Given the description of an element on the screen output the (x, y) to click on. 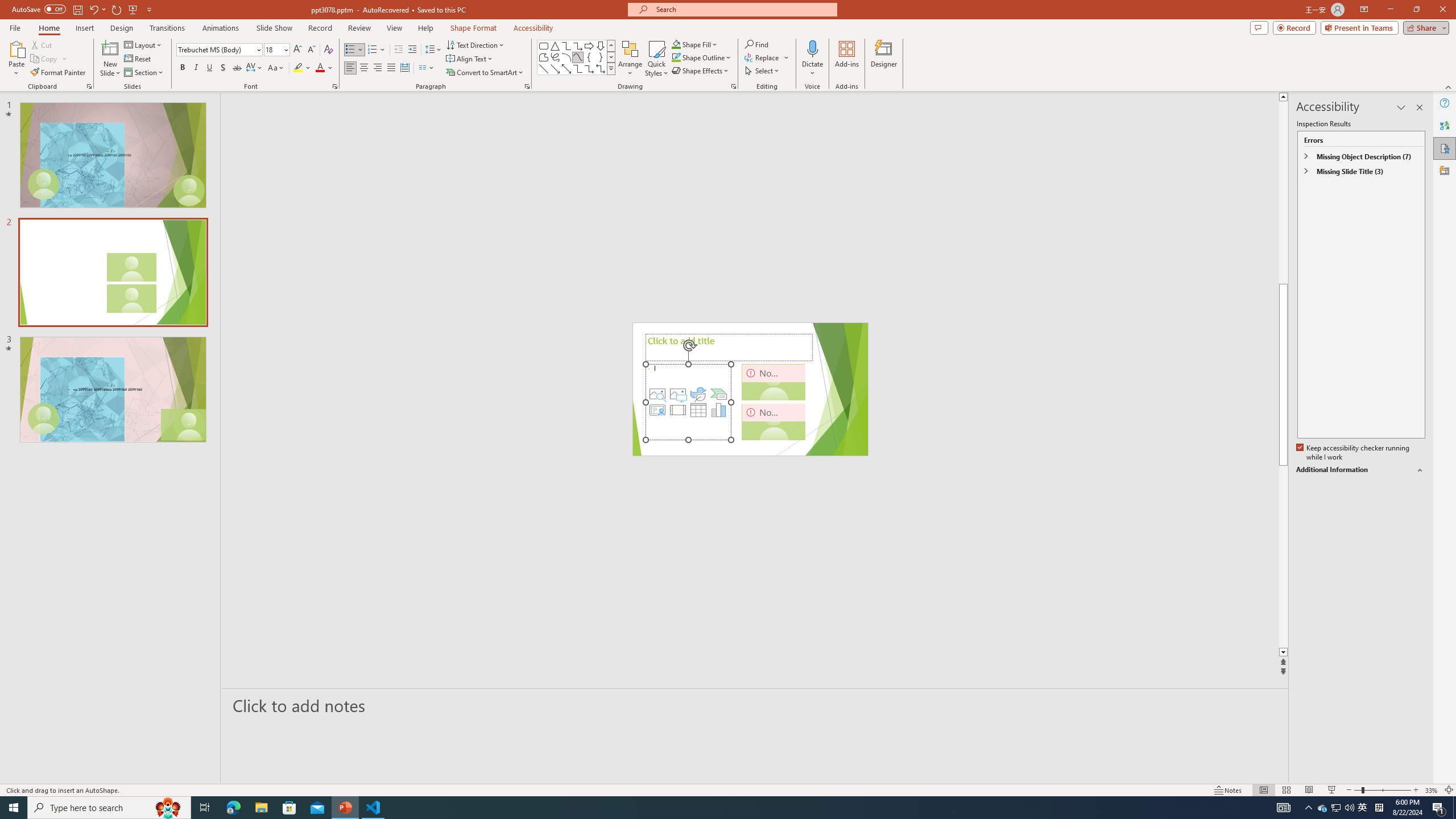
Content Placeholder (688, 401)
Zoom 33% (1431, 790)
